Given the description of an element on the screen output the (x, y) to click on. 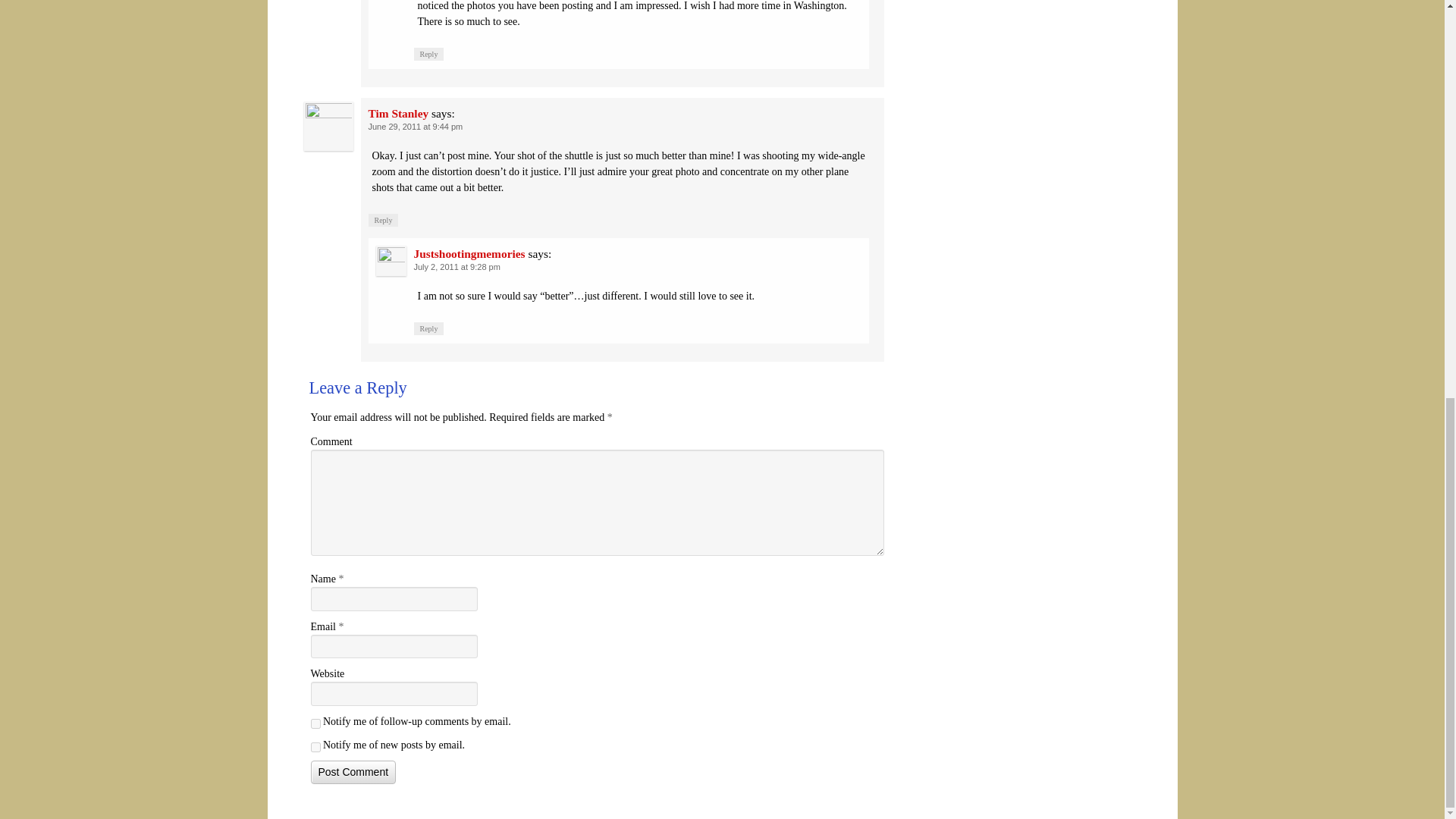
July 2, 2011 at 9:28 pm (456, 266)
Post Comment (353, 771)
subscribe (315, 723)
Post Comment (353, 771)
Reply (383, 219)
June 29, 2011 at 9:44 pm (415, 126)
subscribe (315, 747)
Reply (428, 328)
Reply (428, 53)
Justshootingmemories (469, 253)
Tim Stanley (398, 113)
